Given the description of an element on the screen output the (x, y) to click on. 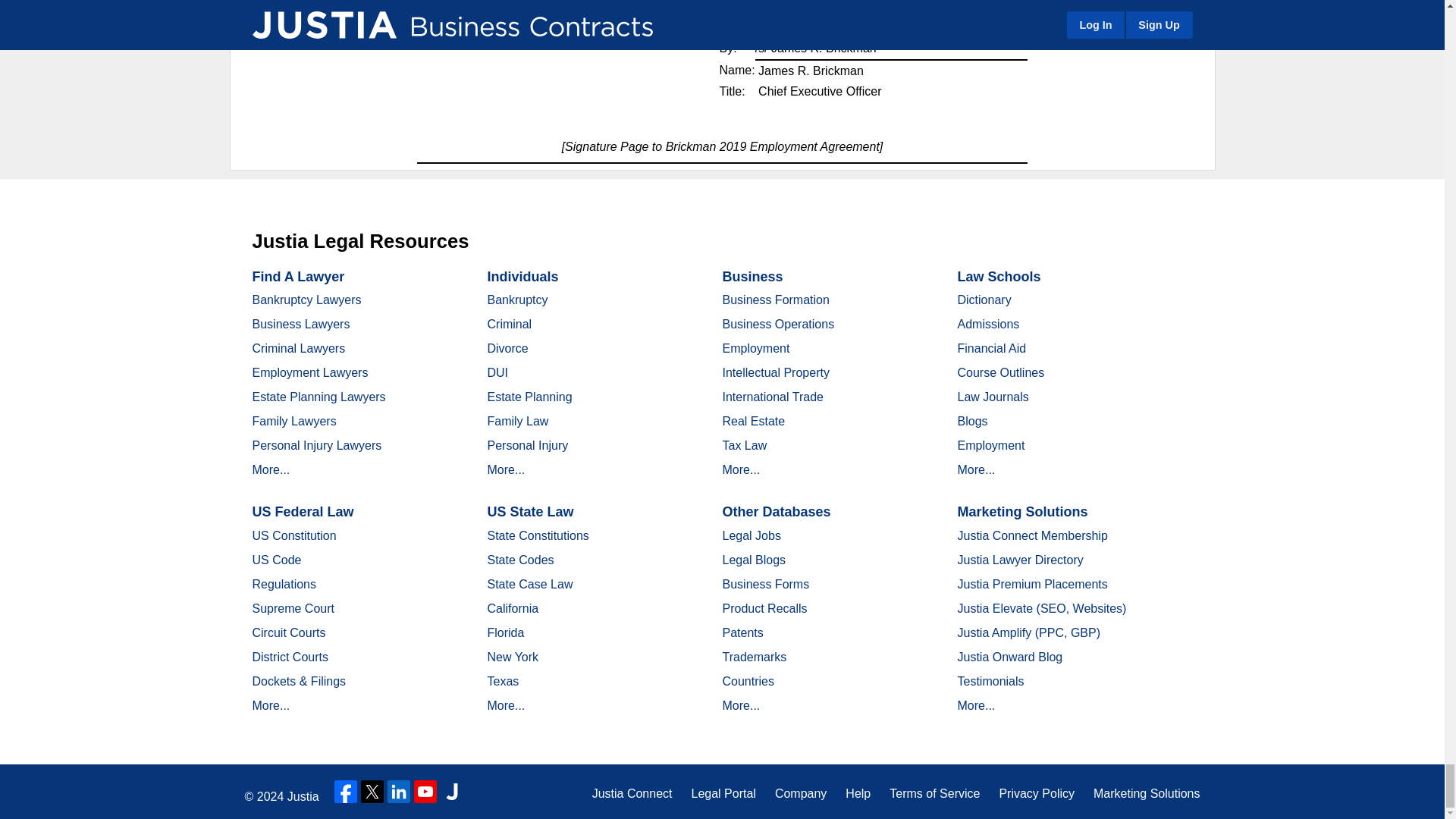
Personal Injury Lawyers (316, 445)
Business Lawyers (300, 323)
Criminal Lawyers (298, 348)
LinkedIn (398, 791)
More... (270, 469)
Find A Lawyer (297, 276)
Justia Lawyer Directory (452, 791)
Twitter (372, 791)
Facebook (345, 791)
YouTube (424, 791)
Family Lawyers (293, 420)
Estate Planning Lawyers (318, 396)
Employment Lawyers (309, 372)
Bankruptcy Lawyers (306, 299)
